Given the description of an element on the screen output the (x, y) to click on. 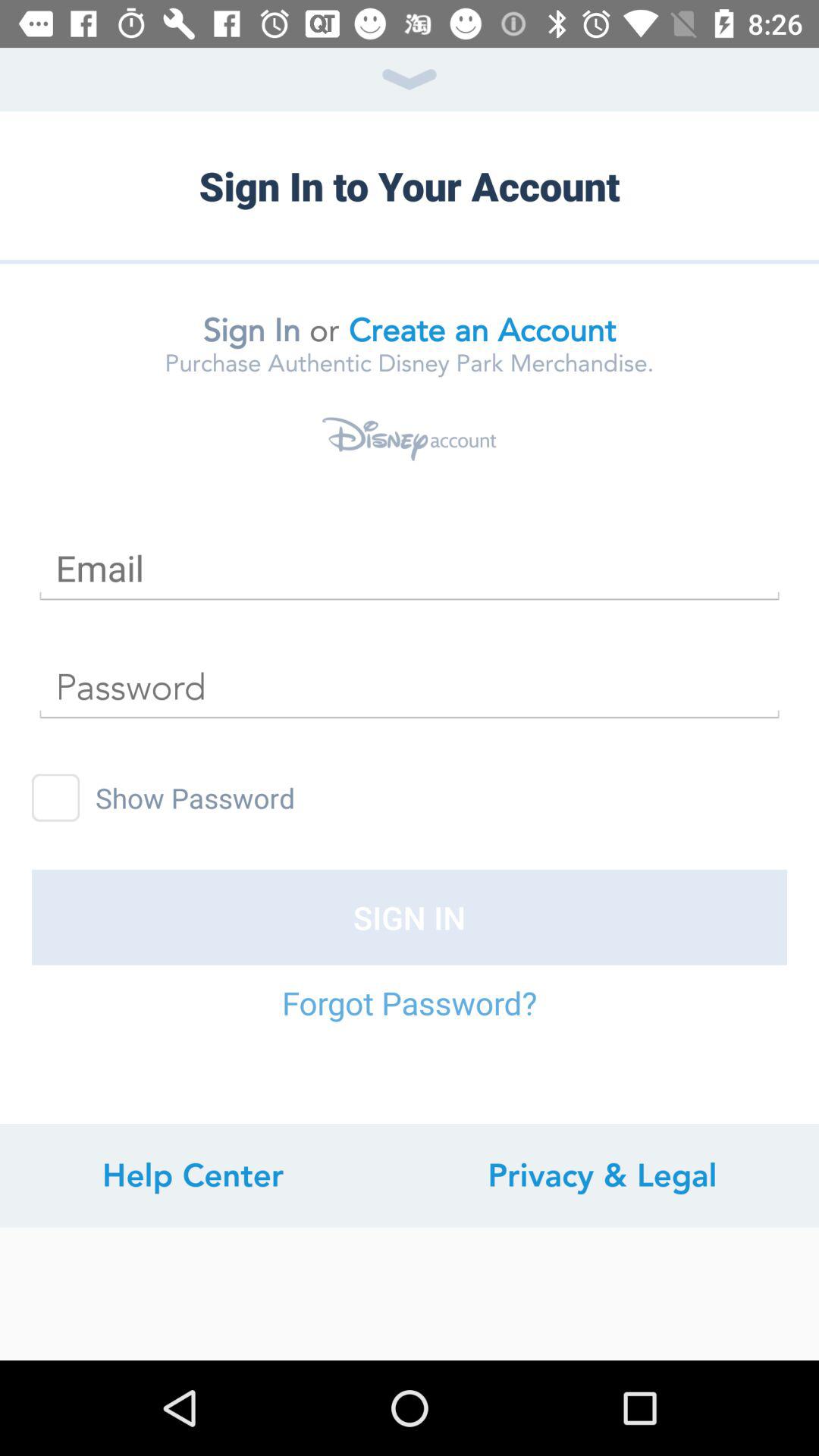
scroll until the create an account (481, 330)
